Given the description of an element on the screen output the (x, y) to click on. 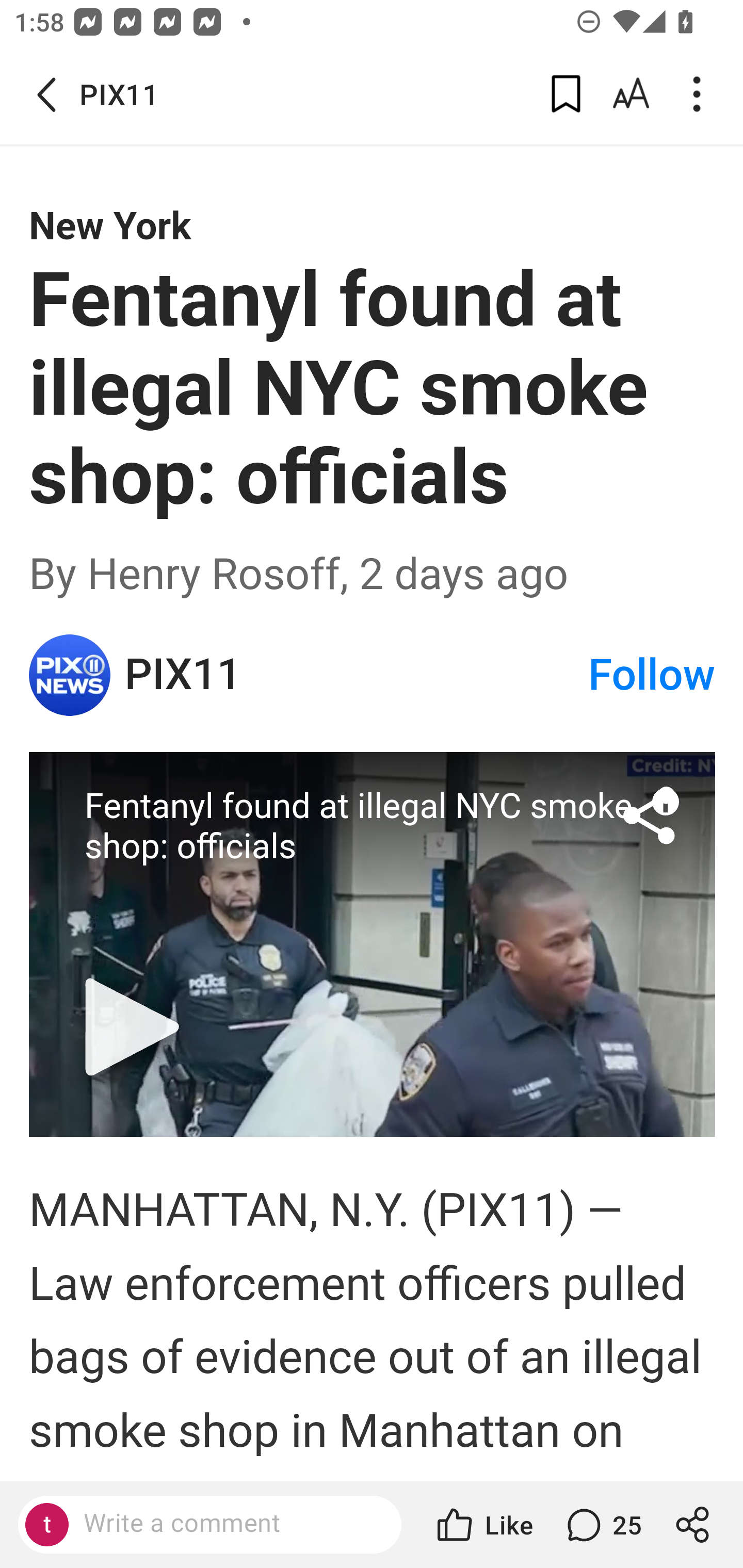
PIX11 (70, 674)
PIX11 (355, 674)
Follow (651, 674)
Like (483, 1524)
25 (601, 1524)
Write a comment (226, 1523)
